Given the description of an element on the screen output the (x, y) to click on. 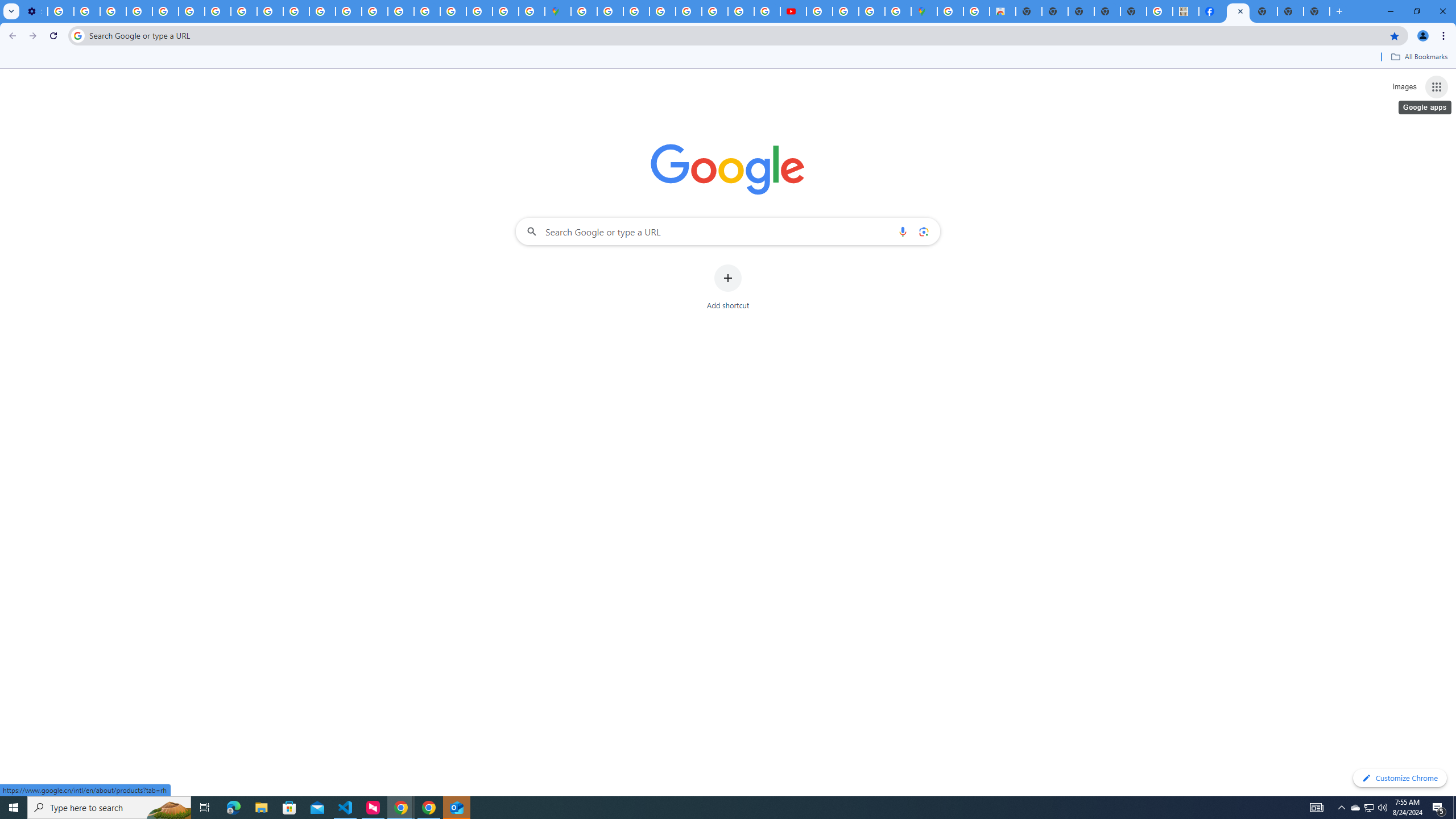
Privacy Help Center - Policies Help (715, 11)
Privacy Help Center - Policies Help (165, 11)
Chrome Web Store - Shopping (1002, 11)
